Given the description of an element on the screen output the (x, y) to click on. 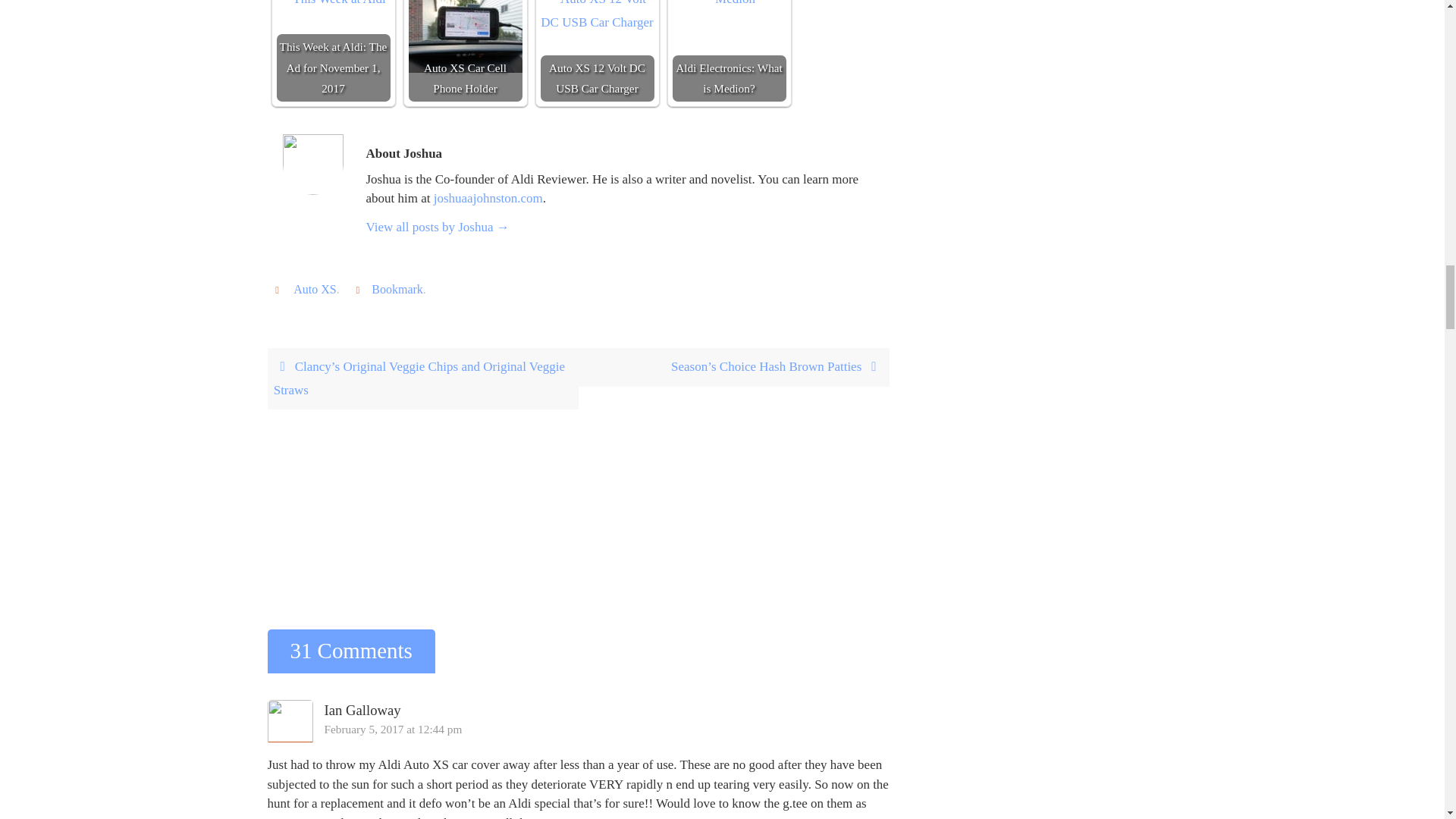
Auto XS 12 Volt DC USB Car Charger (596, 50)
Permalink to Auto XS Car or SUV Cover: Size Charts (397, 289)
This Week at Aldi: The Ad for November 1, 2017 (333, 50)
Aldi Electronics: What is Medion? (729, 5)
Auto XS Car Cell Phone Holder (464, 36)
Auto XS 12 Volt DC USB Car Charger (596, 17)
Aldi Electronics: What is Medion? (728, 50)
Bookmark (397, 289)
joshuaajohnston.com (488, 197)
This Week at Aldi: The Ad for November 1, 2017 (333, 5)
 Bookmark the permalink (359, 288)
Auto XS (315, 289)
Auto XS Car Cell Phone Holder (464, 50)
Tagged (278, 288)
